Given the description of an element on the screen output the (x, y) to click on. 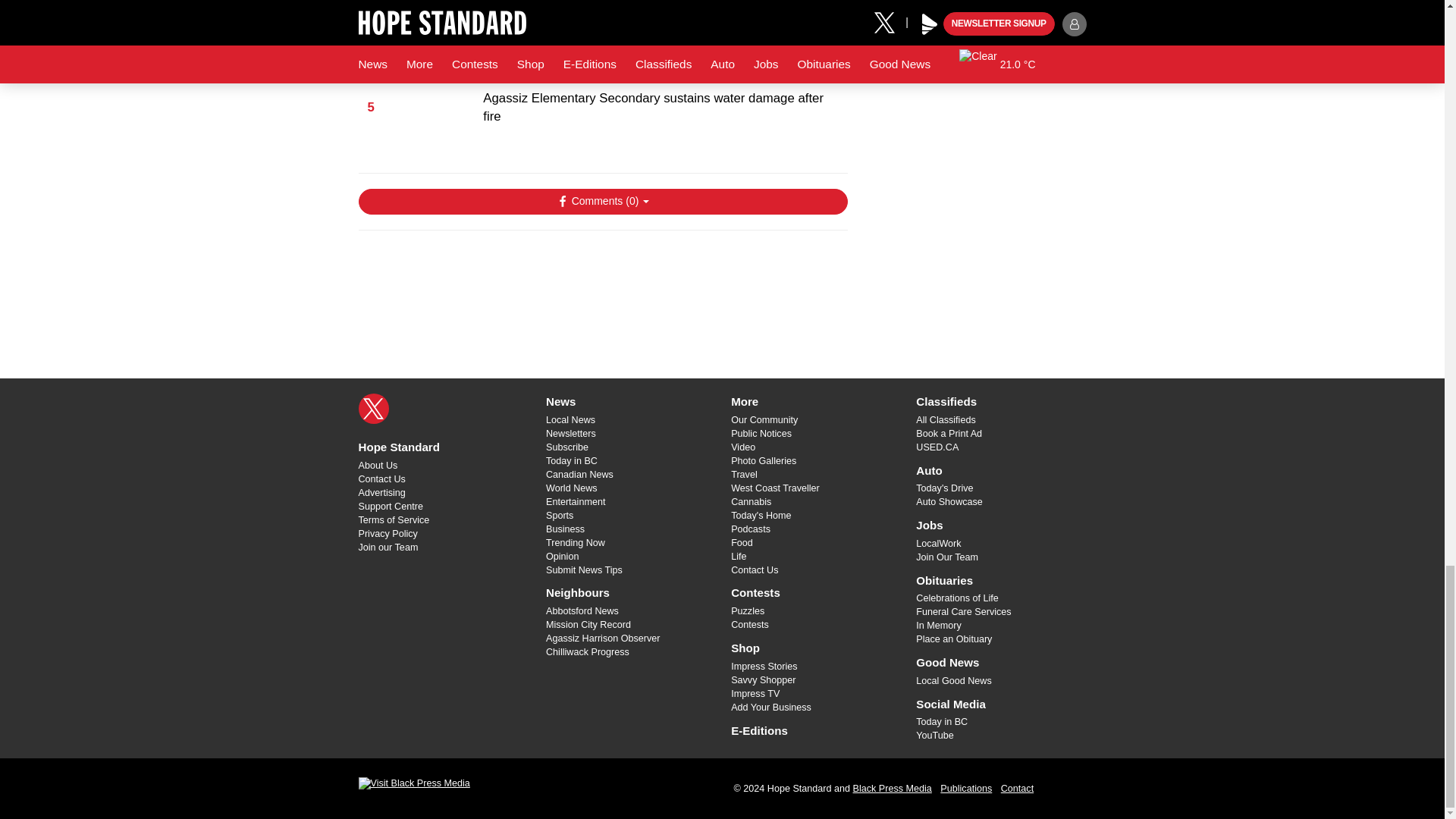
X (373, 408)
Show Comments (602, 201)
